Given the description of an element on the screen output the (x, y) to click on. 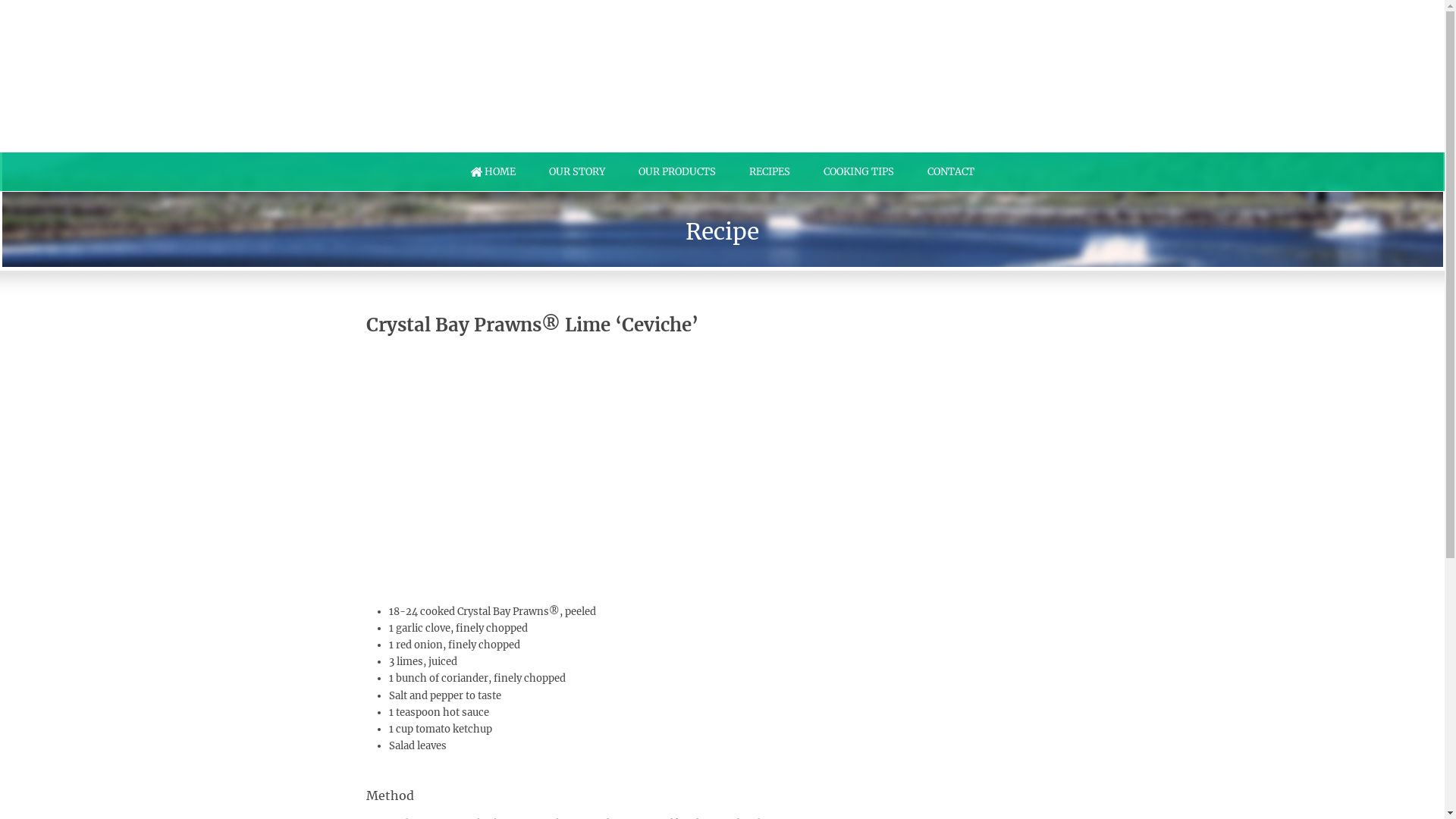
COOKING TIPS Element type: text (858, 172)
CONTACT Element type: text (950, 172)
OUR STORY Element type: text (576, 172)
OUR PRODUCTS Element type: text (677, 172)
HOME Element type: text (492, 172)
RECIPES Element type: text (769, 172)
